Given the description of an element on the screen output the (x, y) to click on. 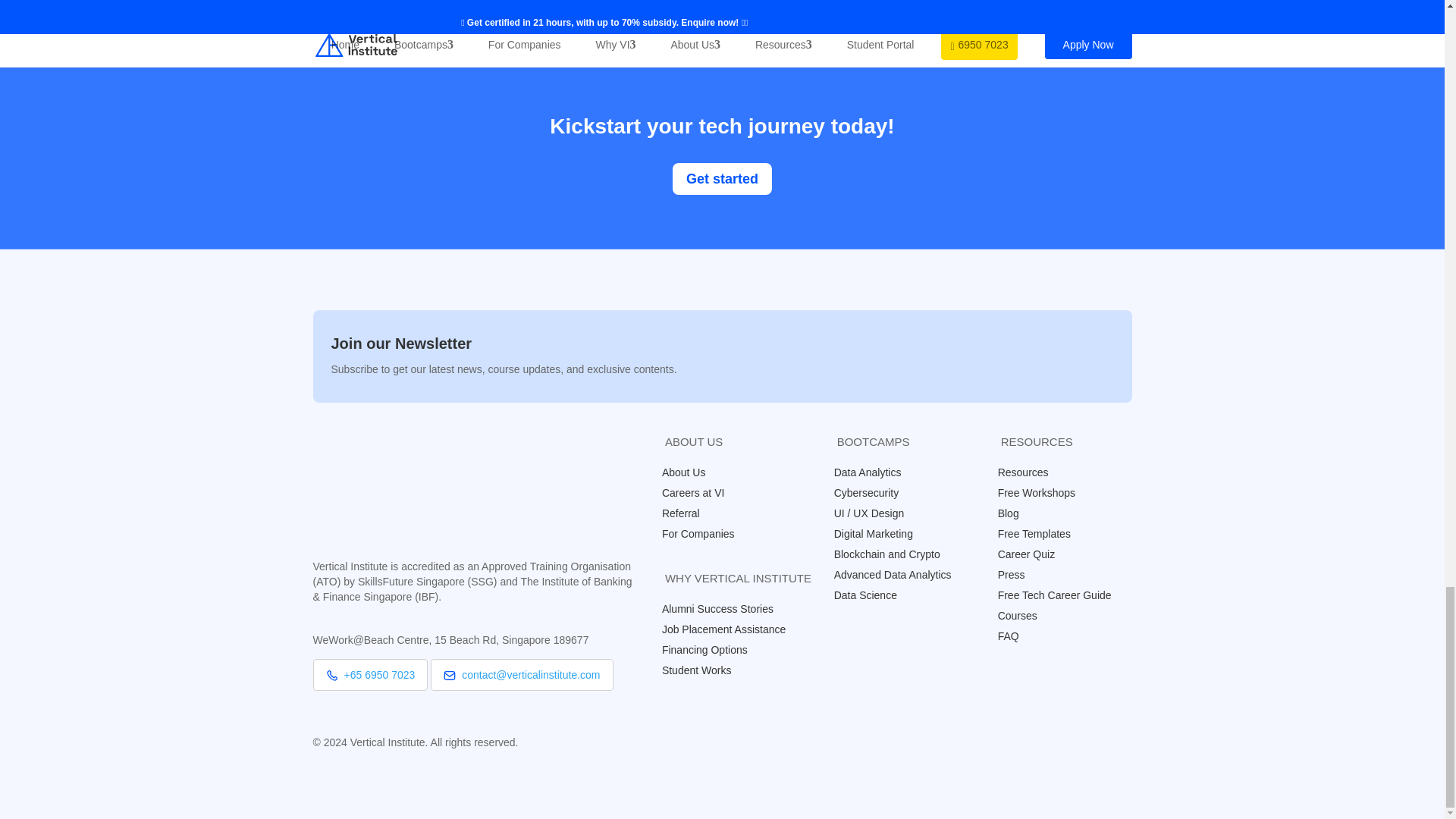
Alumni Success Stories (725, 608)
Referral (688, 512)
Careers at VI (700, 492)
For Companies (705, 533)
Get started (721, 178)
About Us (691, 472)
